Given the description of an element on the screen output the (x, y) to click on. 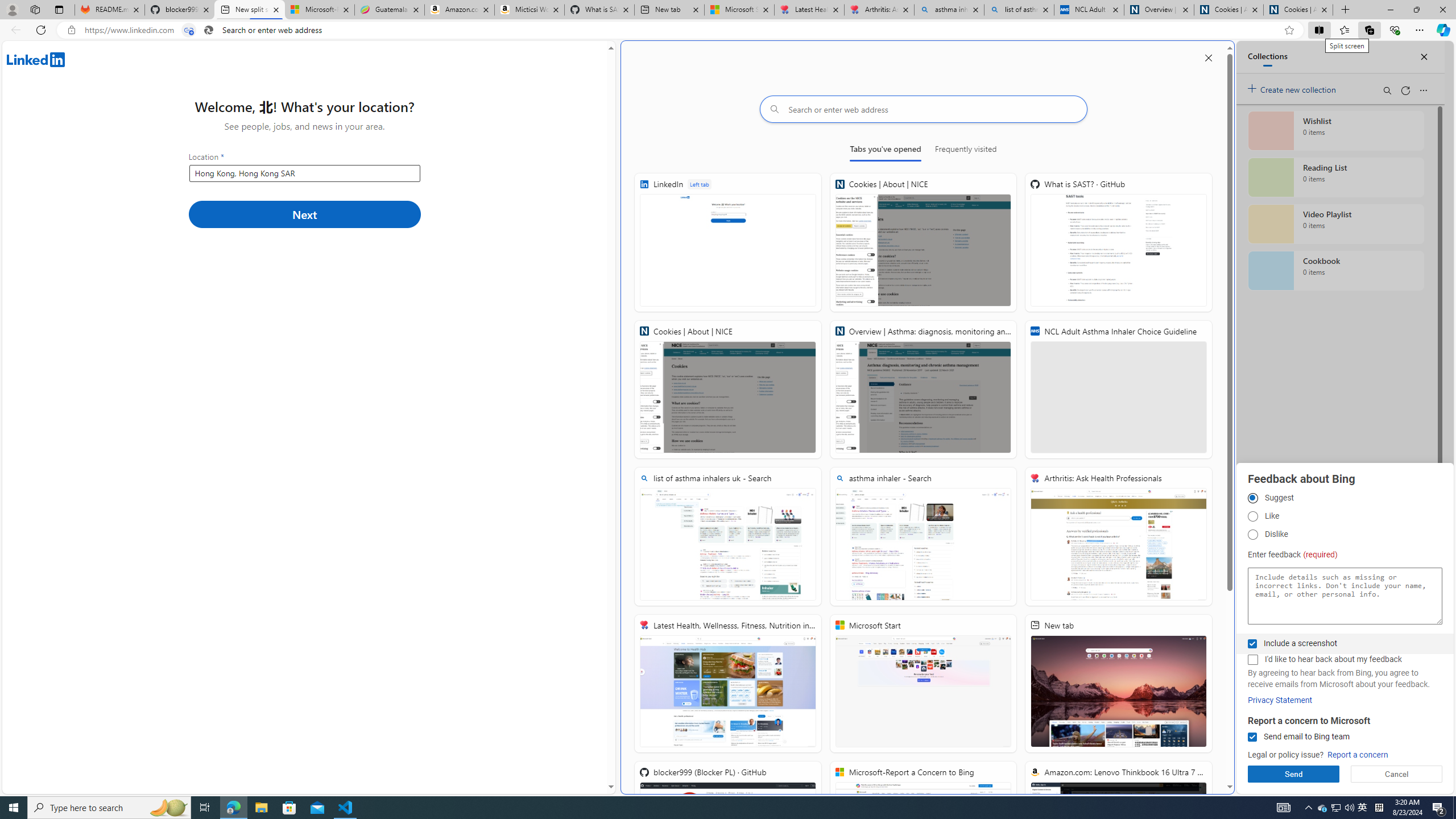
Send email to Bing team (1251, 737)
Cancel (1396, 773)
Like (1252, 516)
Suggest (1252, 498)
Search icon (208, 29)
Frequently visited (965, 151)
Send (1293, 773)
